Given the description of an element on the screen output the (x, y) to click on. 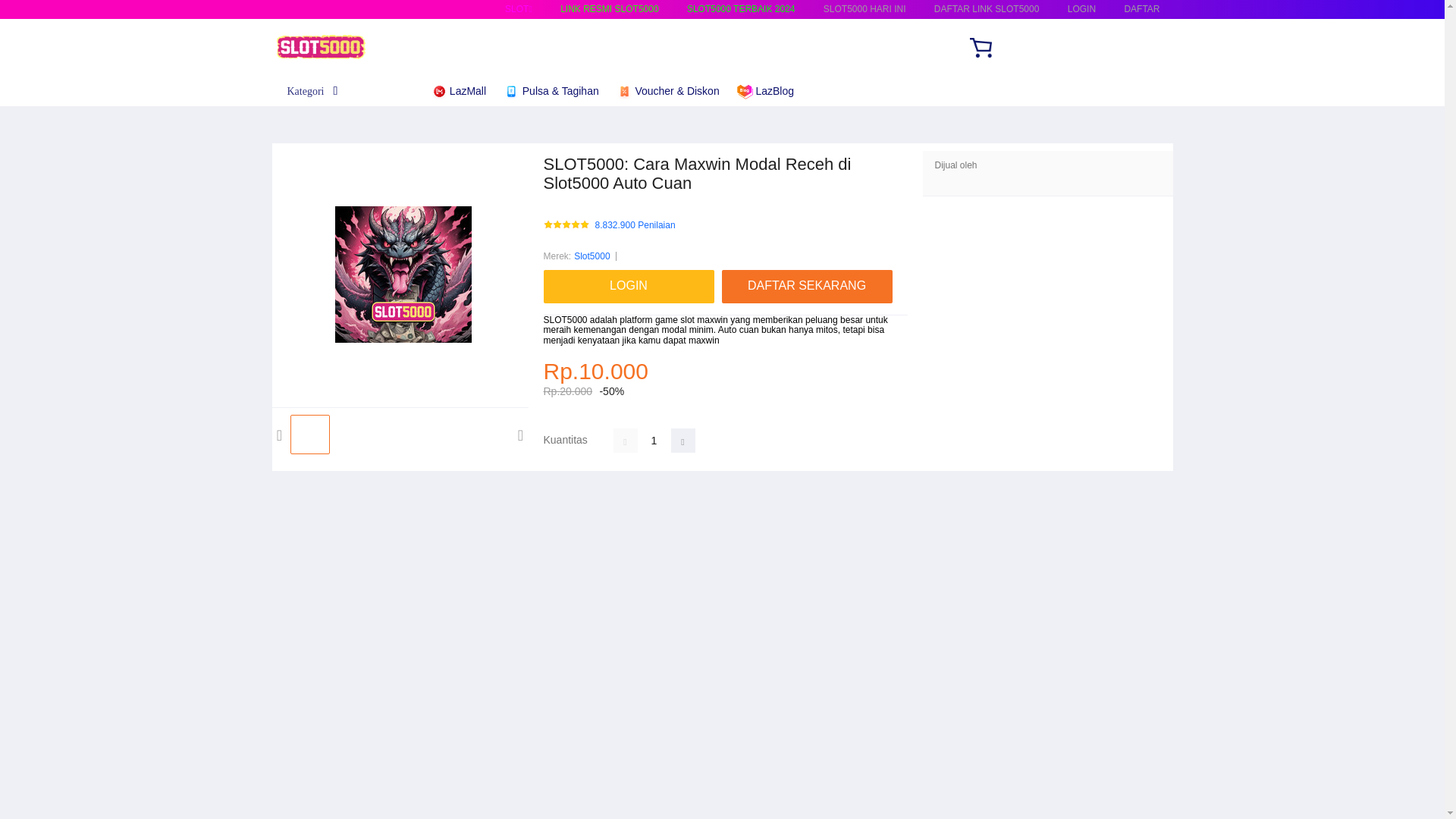
SLOT5000 TERBAIK 2024 (740, 9)
DAFTAR (1141, 9)
LOGIN (1081, 9)
1 (653, 440)
